Given the description of an element on the screen output the (x, y) to click on. 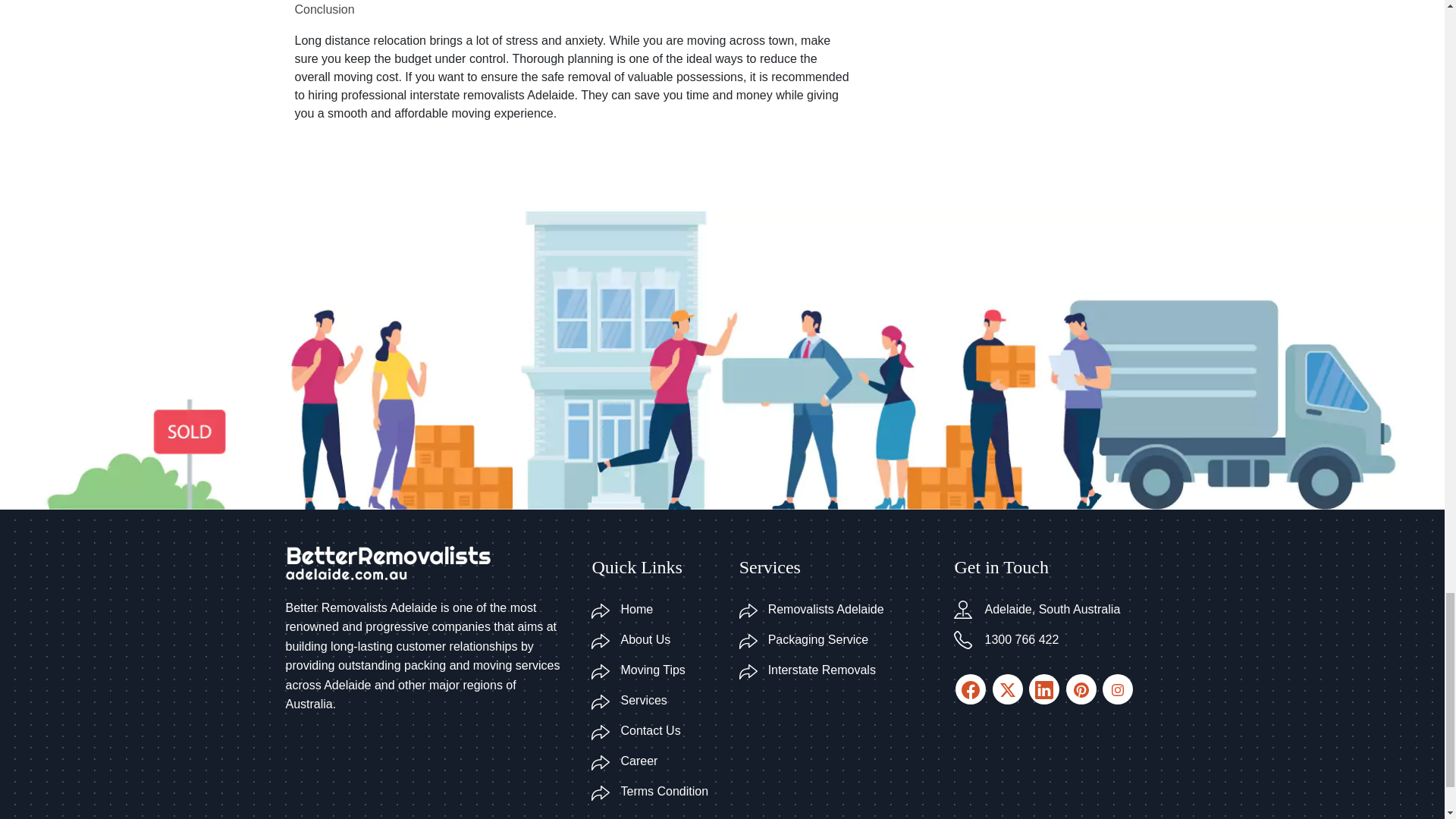
Pinterest Better removalists Adelaide (1007, 689)
Instagram Better removalists Adelaide (970, 689)
